Given the description of an element on the screen output the (x, y) to click on. 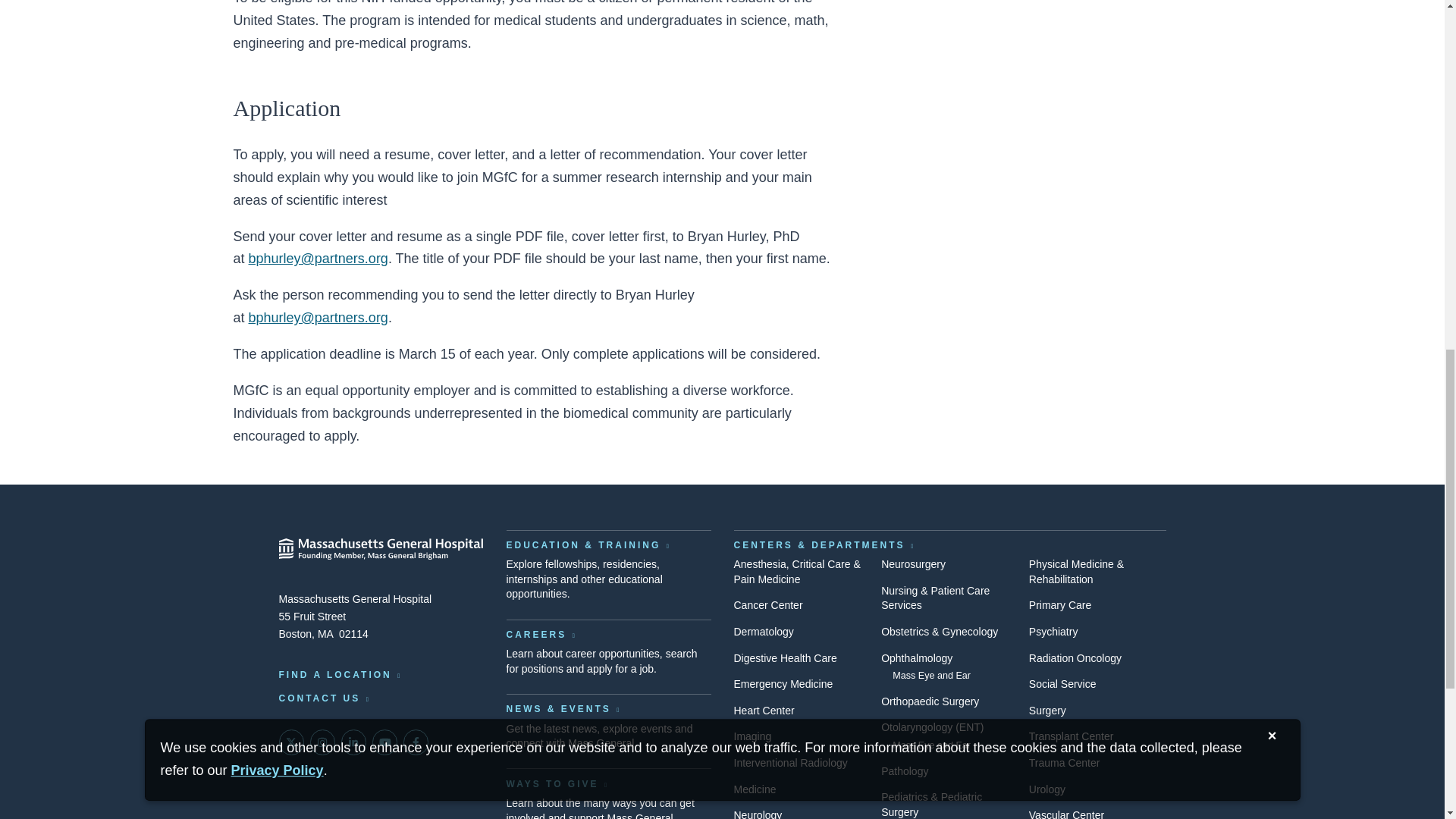
Massachusetts General Hospital - Home (381, 548)
